Given the description of an element on the screen output the (x, y) to click on. 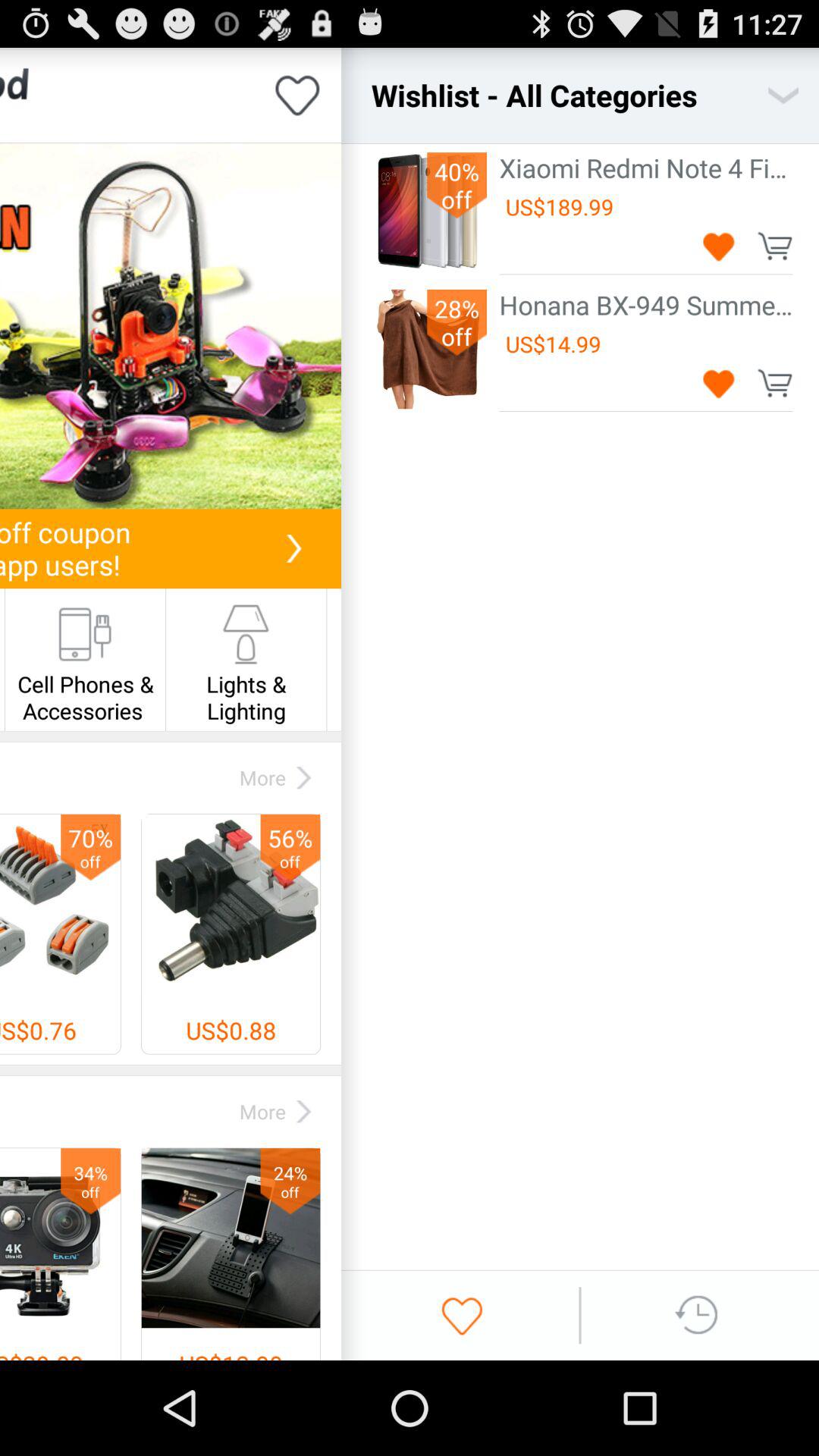
reset time (697, 1315)
